Given the description of an element on the screen output the (x, y) to click on. 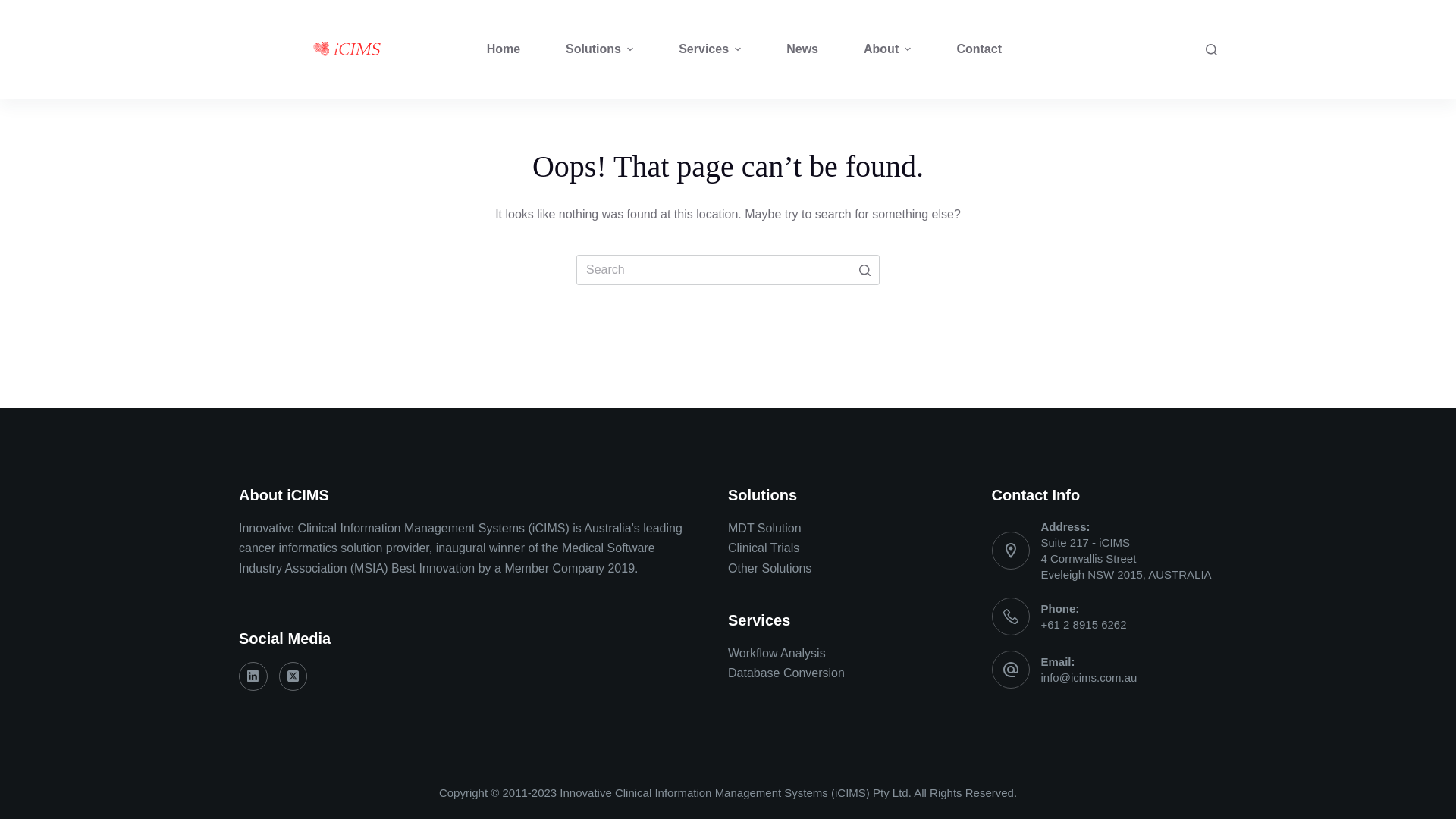
Skip to content Element type: text (15, 7)
Database Conversion Element type: text (786, 672)
Contact Element type: text (978, 49)
Workflow Analysis Element type: text (776, 652)
Home Element type: text (503, 49)
News Element type: text (801, 49)
info@icims.com.au Element type: text (1088, 677)
Search for... Element type: hover (727, 269)
MDT Solution Element type: text (764, 527)
Solutions Element type: text (598, 49)
Other Solutions Element type: text (769, 567)
About Element type: text (886, 49)
Services Element type: text (709, 49)
Clinical Trials Element type: text (763, 547)
